Given the description of an element on the screen output the (x, y) to click on. 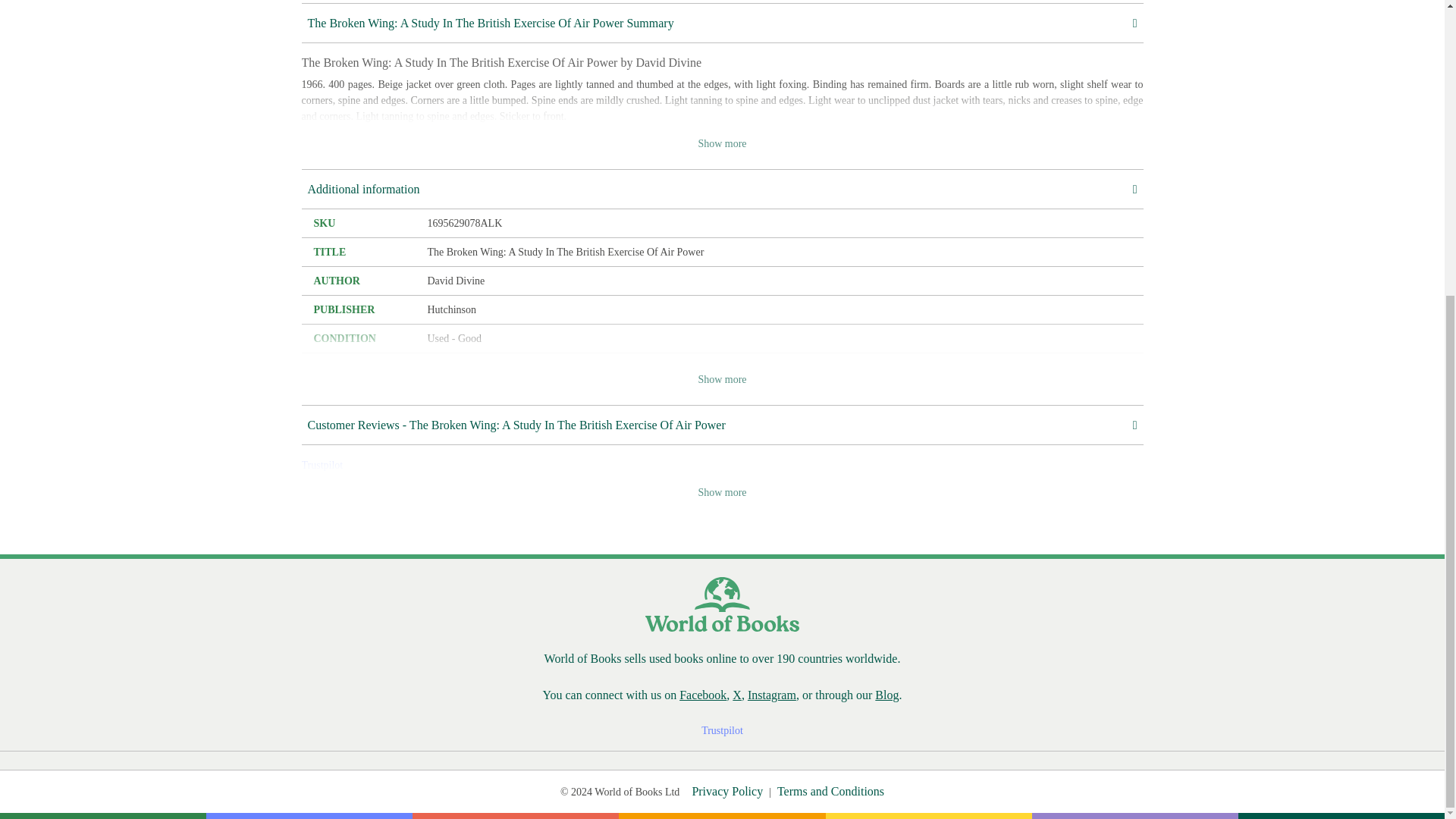
Show more (721, 379)
Instagram (772, 694)
Facebook (702, 694)
Show more (721, 143)
Show more (721, 492)
Trustpilot (322, 464)
